Given the description of an element on the screen output the (x, y) to click on. 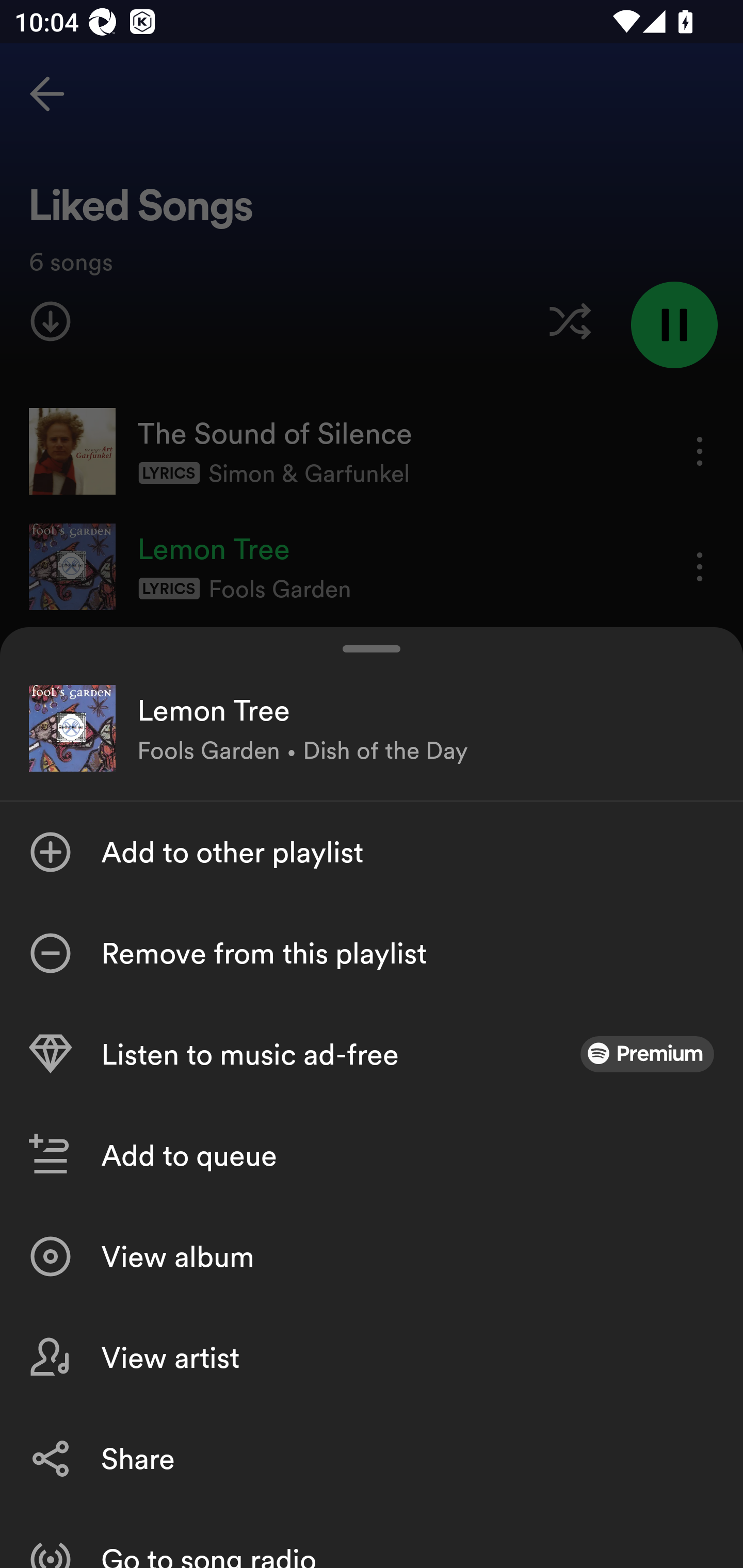
Add to other playlist (371, 852)
Remove from this playlist (371, 953)
Listen to music ad-free (371, 1054)
Add to queue (371, 1155)
View album (371, 1256)
View artist (371, 1357)
Share (371, 1458)
